Given the description of an element on the screen output the (x, y) to click on. 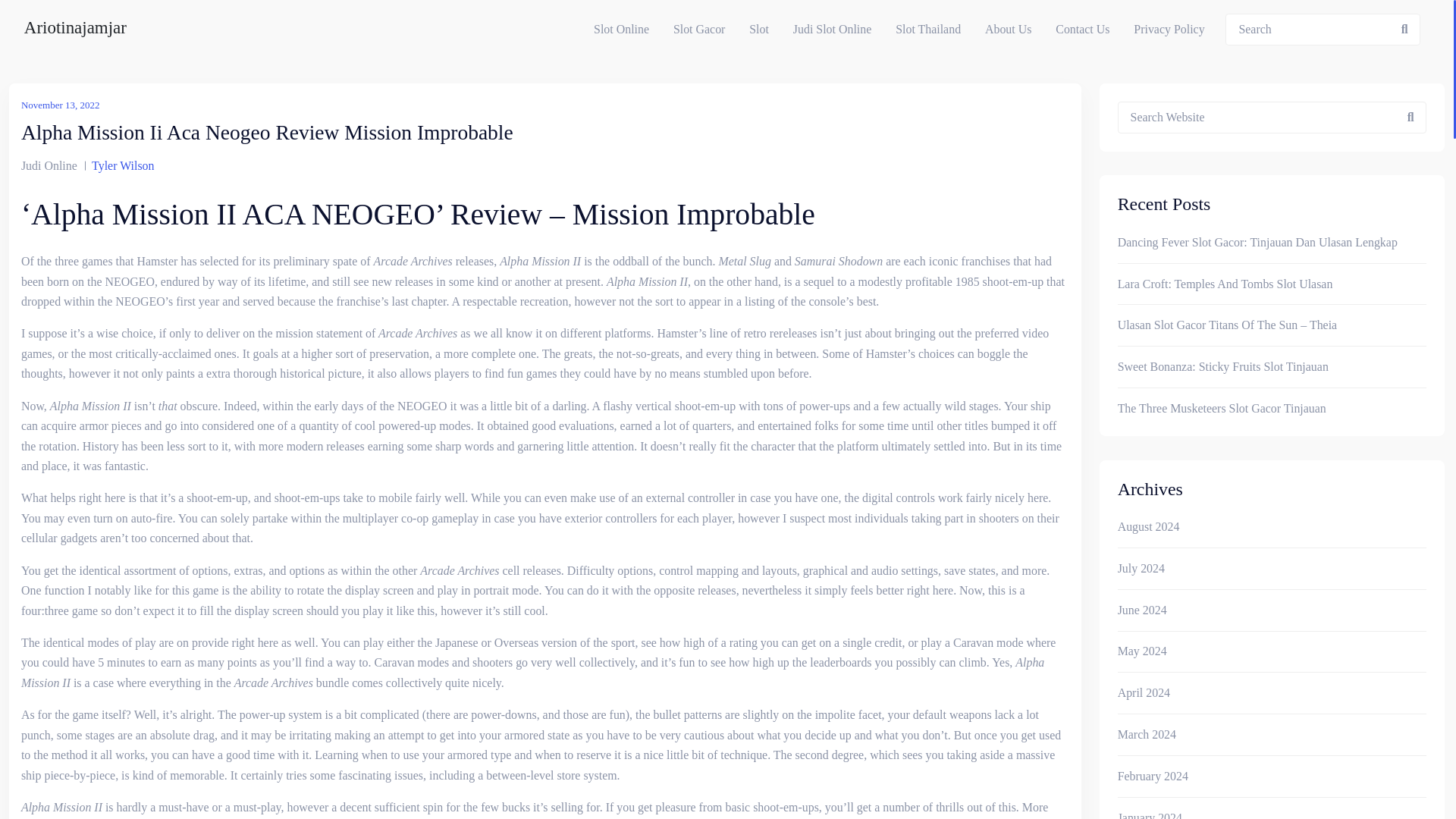
Sweet Bonanza: Sticky Fruits Slot Tinjauan (1222, 366)
Contact Us (1082, 29)
Tyler Wilson (122, 164)
Privacy Policy (1168, 29)
November 13, 2022 (60, 104)
Slot Online (620, 29)
About Us (1007, 29)
Slot (758, 29)
Slot Gacor (698, 29)
Lara Croft: Temples And Tombs Slot Ulasan (1225, 284)
Judi Online (49, 164)
Dancing Fever Slot Gacor: Tinjauan Dan Ulasan Lengkap (1257, 242)
Slot Thailand (927, 29)
The Three Musketeers Slot Gacor Tinjauan (1222, 408)
Ariotinajamjar (75, 29)
